Given the description of an element on the screen output the (x, y) to click on. 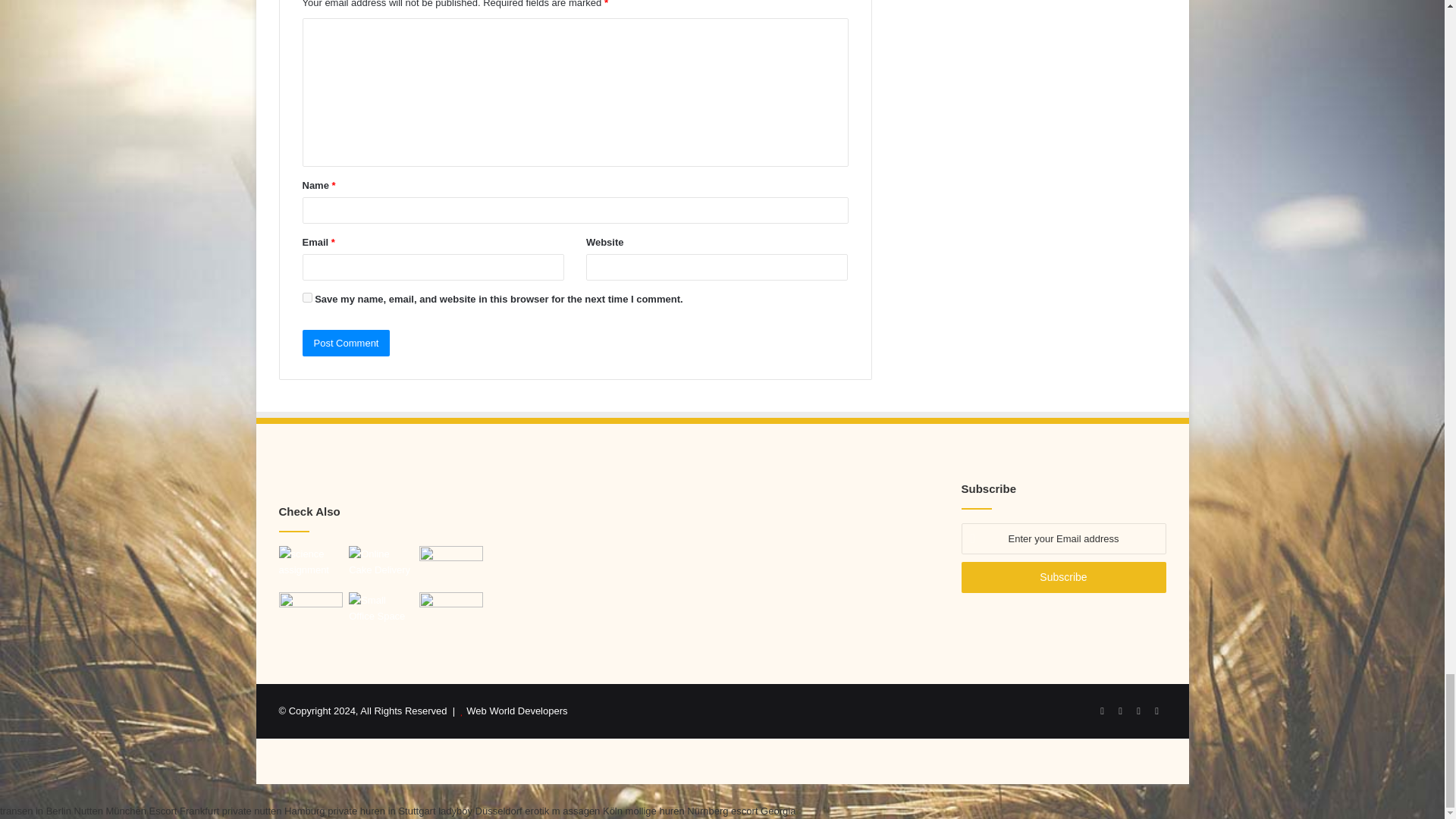
Subscribe (1063, 576)
Post Comment (345, 343)
yes (306, 297)
